Given the description of an element on the screen output the (x, y) to click on. 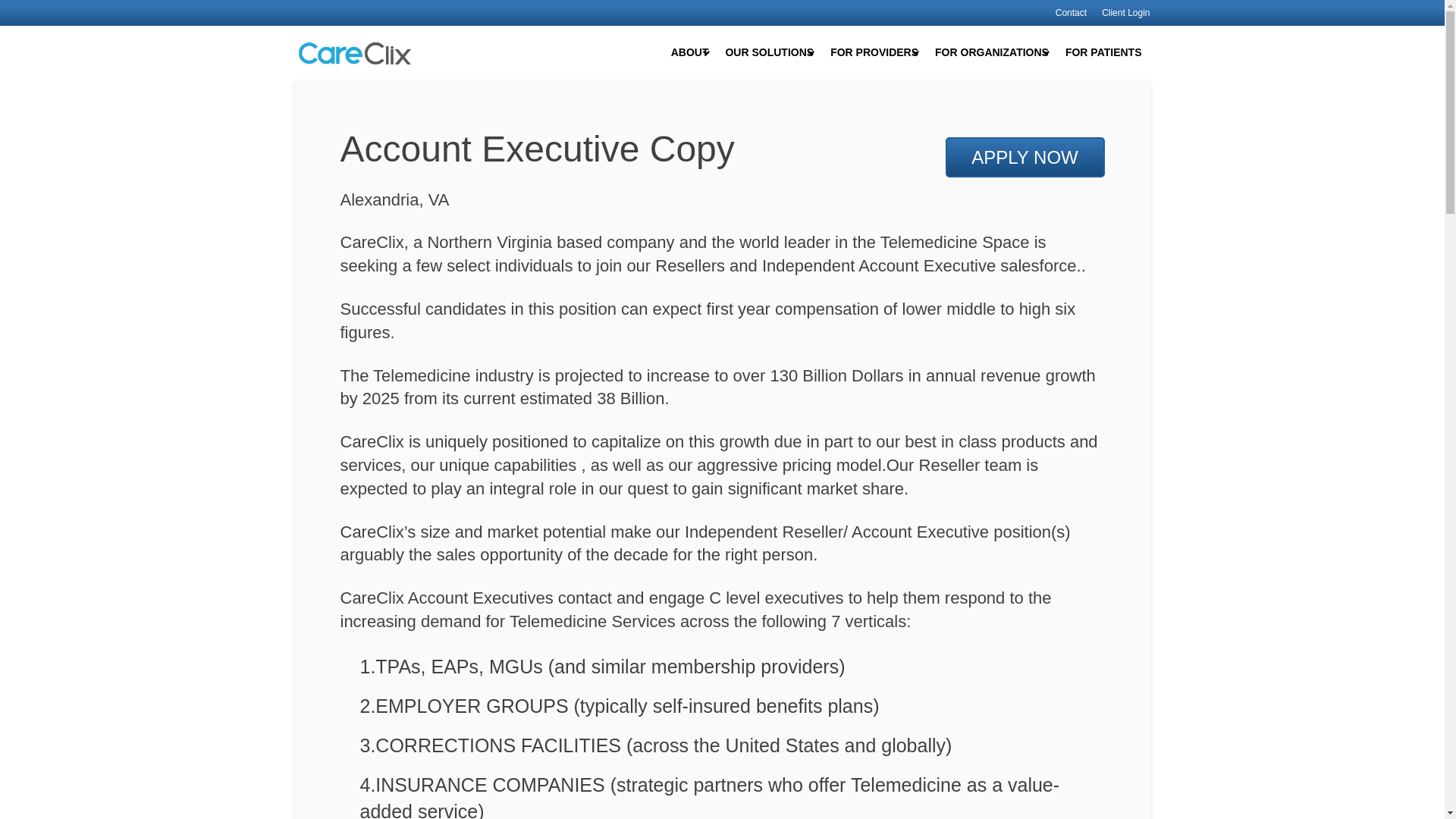
Contact (1071, 12)
Client Login (1122, 12)
